Given the description of an element on the screen output the (x, y) to click on. 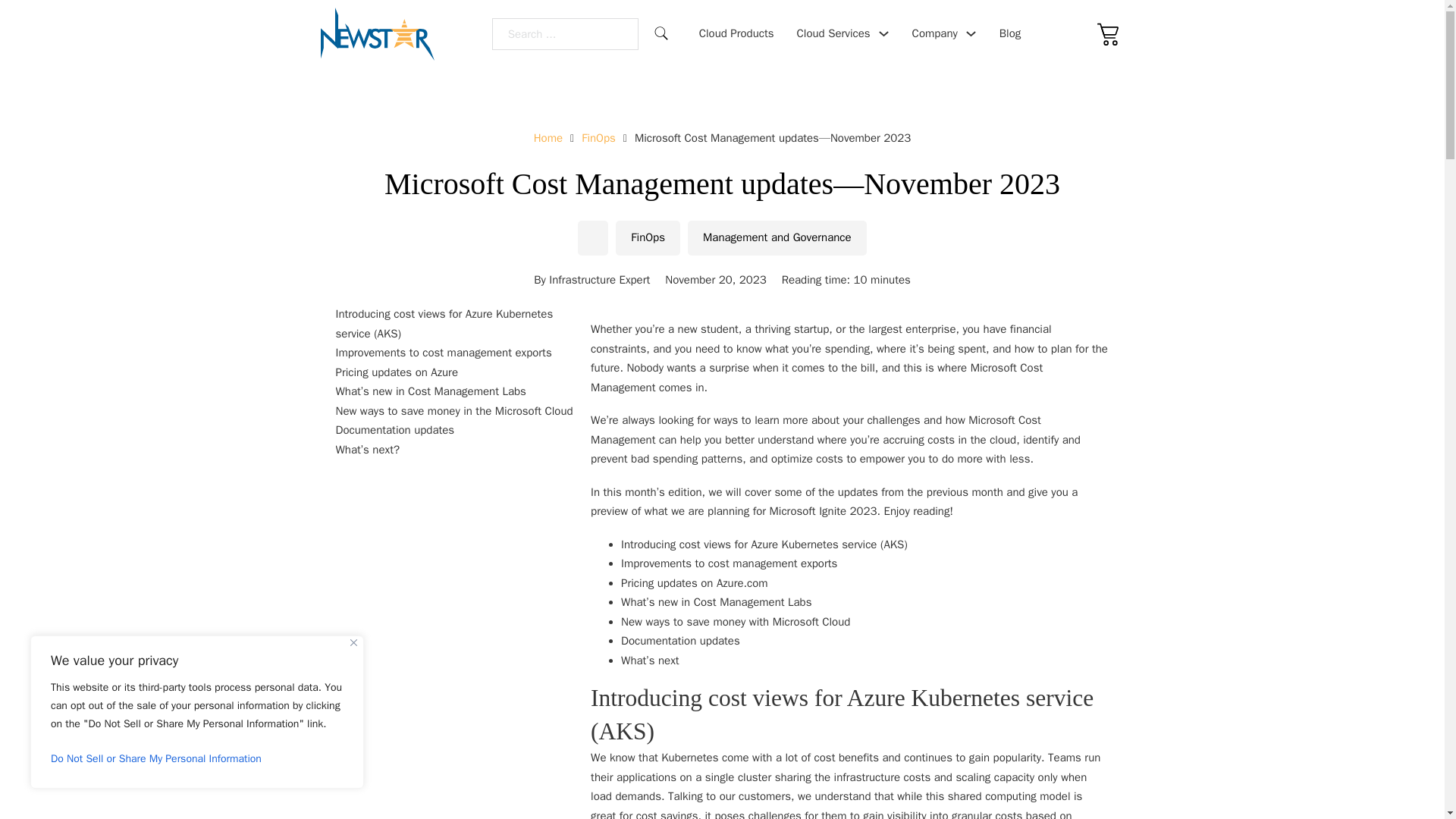
Improvements to cost management exports (462, 353)
Do Not Sell or Share My Personal Information (196, 759)
Management and Governance (776, 237)
New ways to save money in the Microsoft Cloud (462, 411)
Cloud Products (736, 34)
Blog (1009, 34)
Pricing updates on Azure (462, 373)
FinOps (647, 237)
FinOps (597, 138)
Home (548, 138)
